Given the description of an element on the screen output the (x, y) to click on. 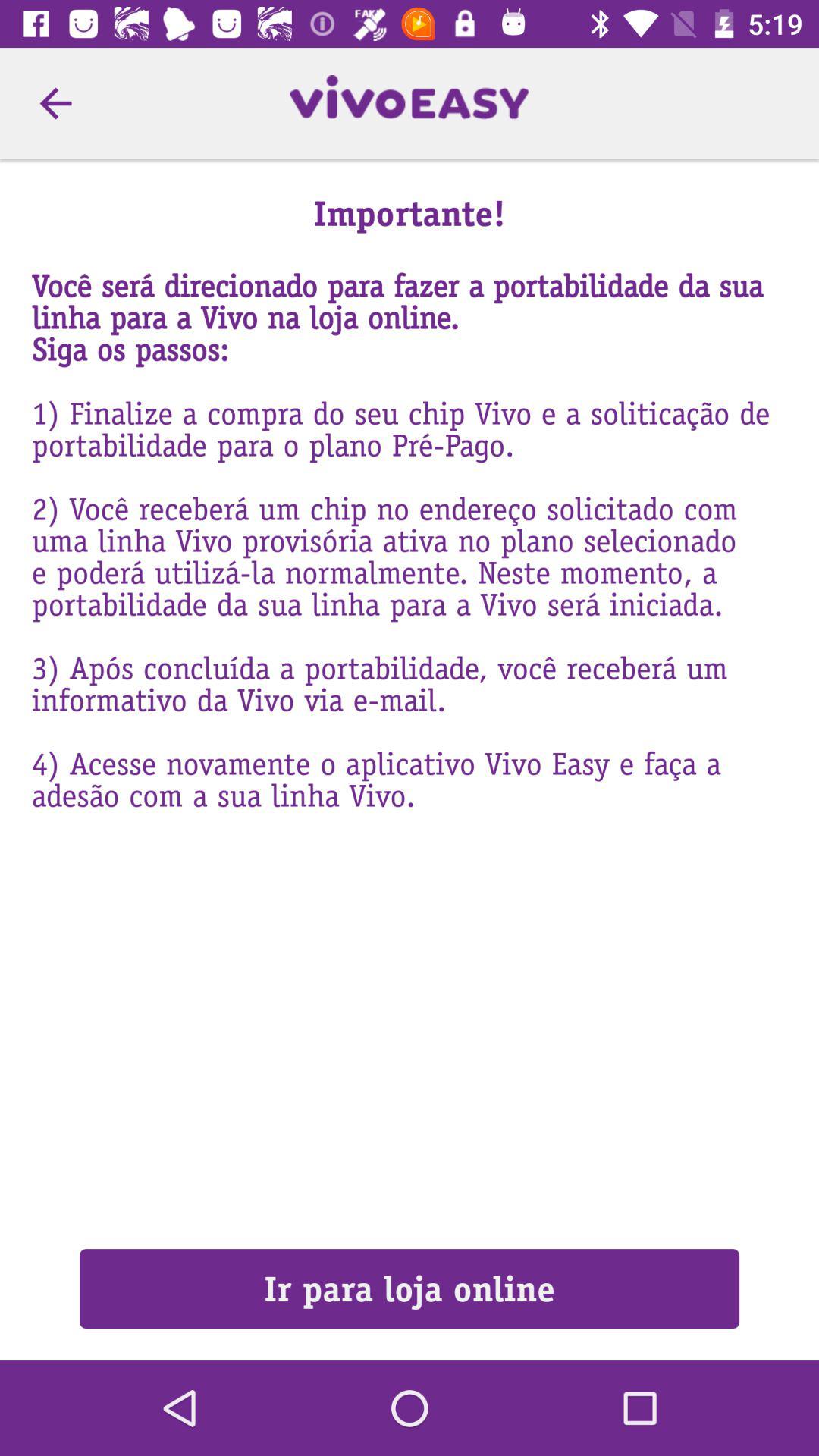
turn off the item at the top left corner (55, 103)
